Given the description of an element on the screen output the (x, y) to click on. 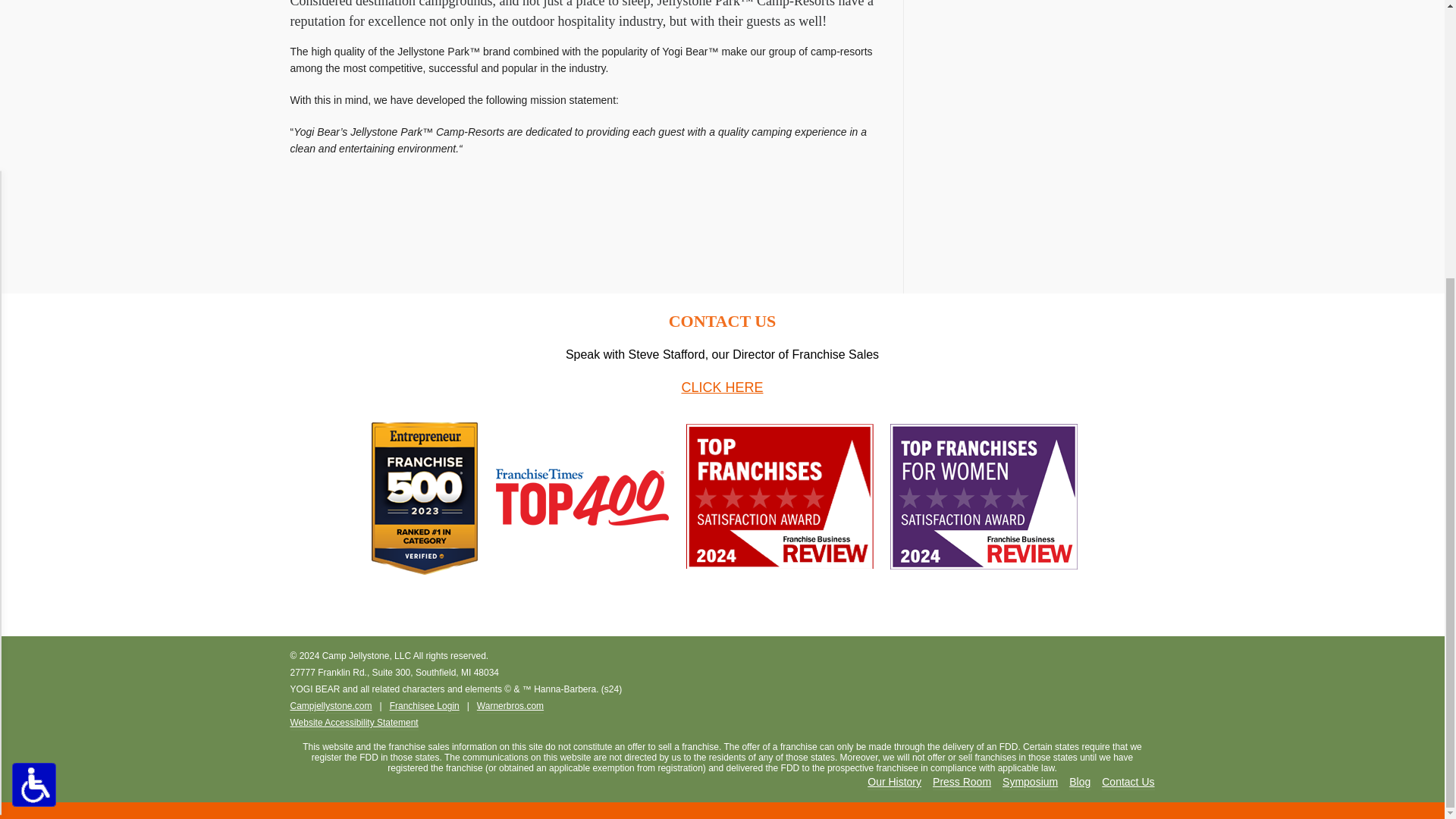
Blog (1079, 782)
Symposium (1030, 782)
Our History (894, 782)
Warnerbros.com (510, 707)
Website Accessibility Statement (353, 723)
Campjellystone.com (330, 707)
Franchisee Login (425, 707)
Press Room (962, 782)
CLICK HERE (721, 387)
